Given the description of an element on the screen output the (x, y) to click on. 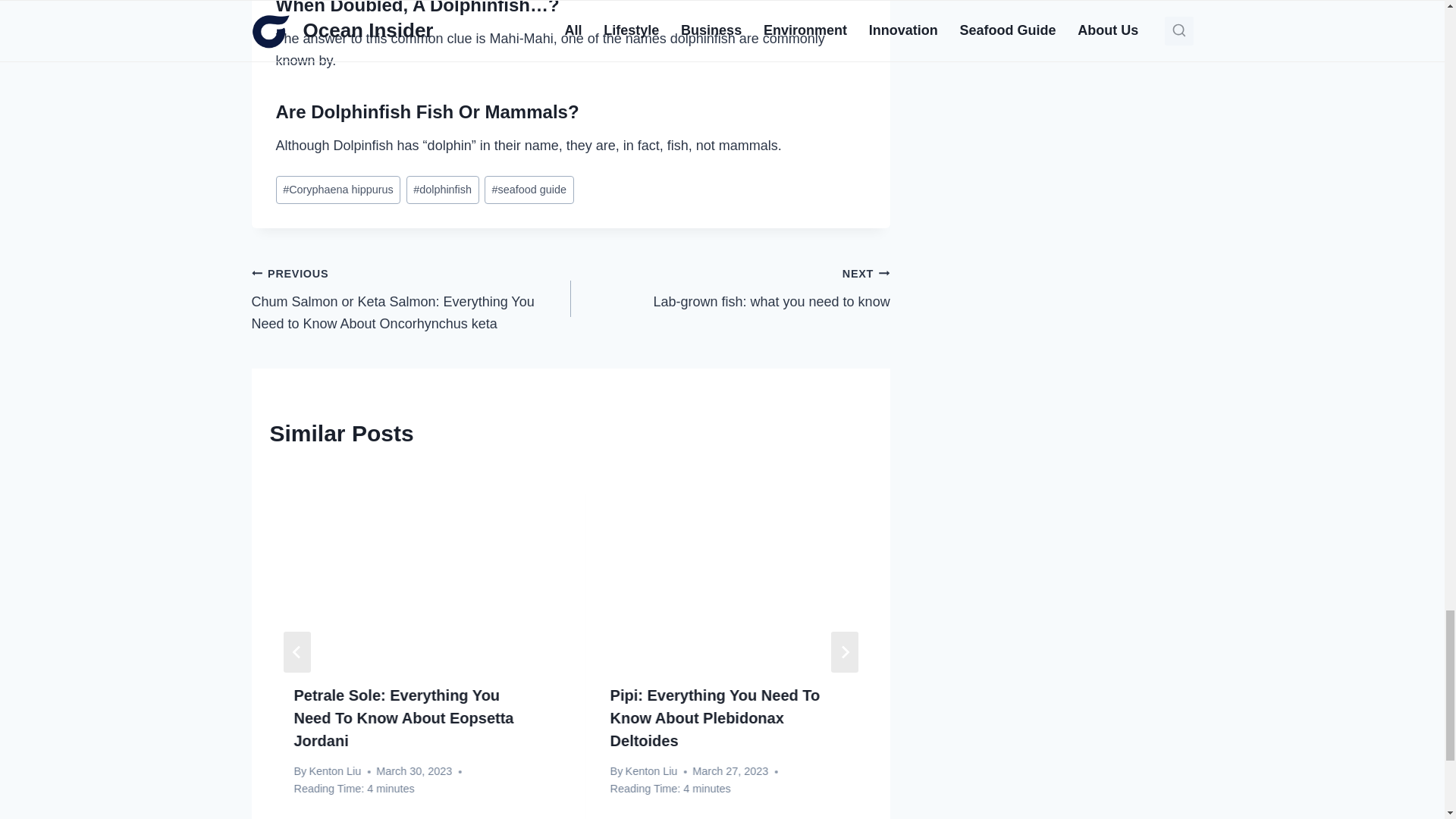
Coryphaena hippurus (729, 287)
dolphinfish (338, 189)
seafood guide (442, 189)
